Given the description of an element on the screen output the (x, y) to click on. 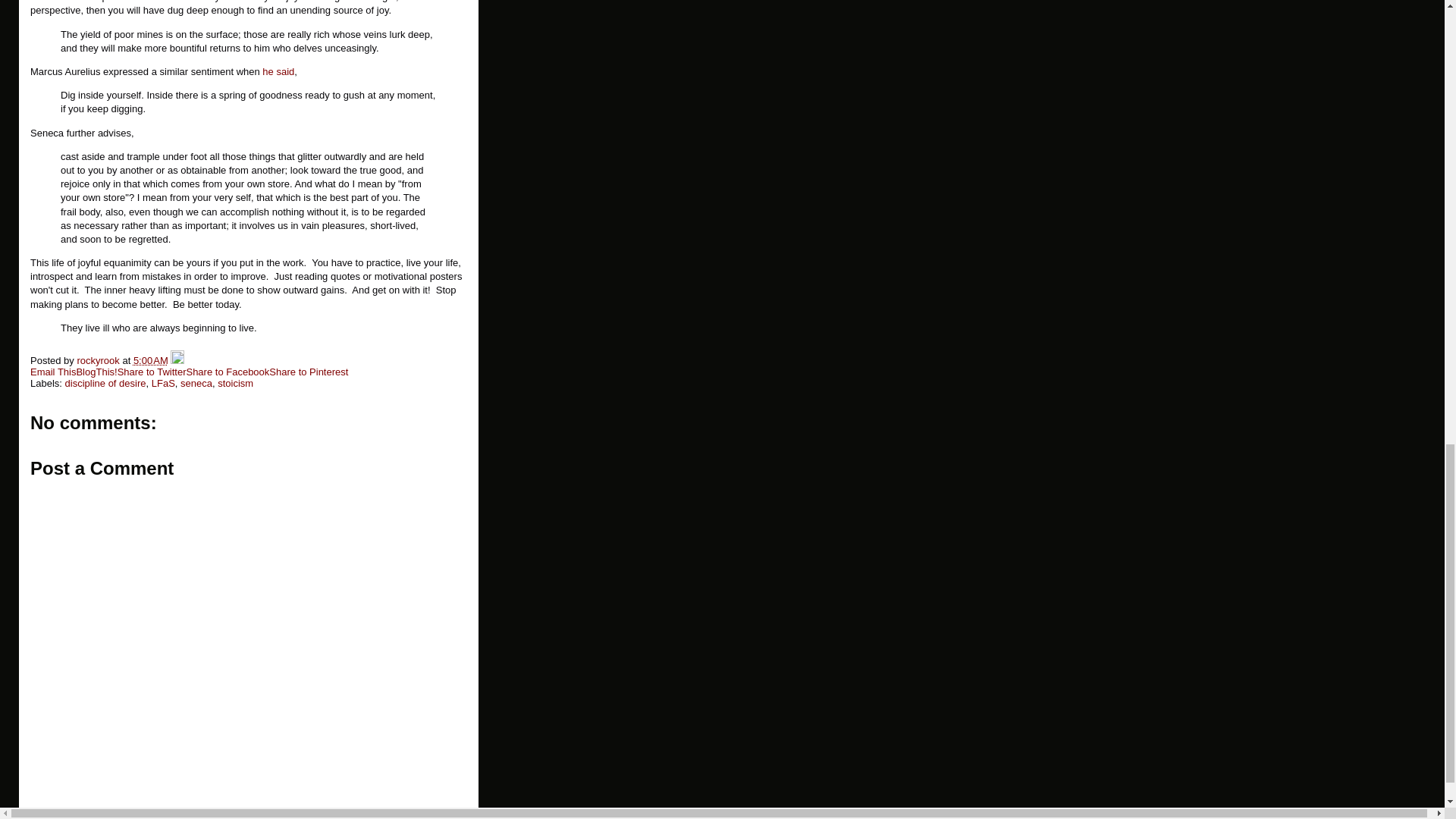
BlogThis! (95, 371)
he said (278, 71)
Share to Pinterest (308, 371)
Share to Twitter (151, 371)
LFaS (162, 383)
rockyrook (99, 360)
Email This (52, 371)
Share to Facebook (227, 371)
Email This (52, 371)
